Given the description of an element on the screen output the (x, y) to click on. 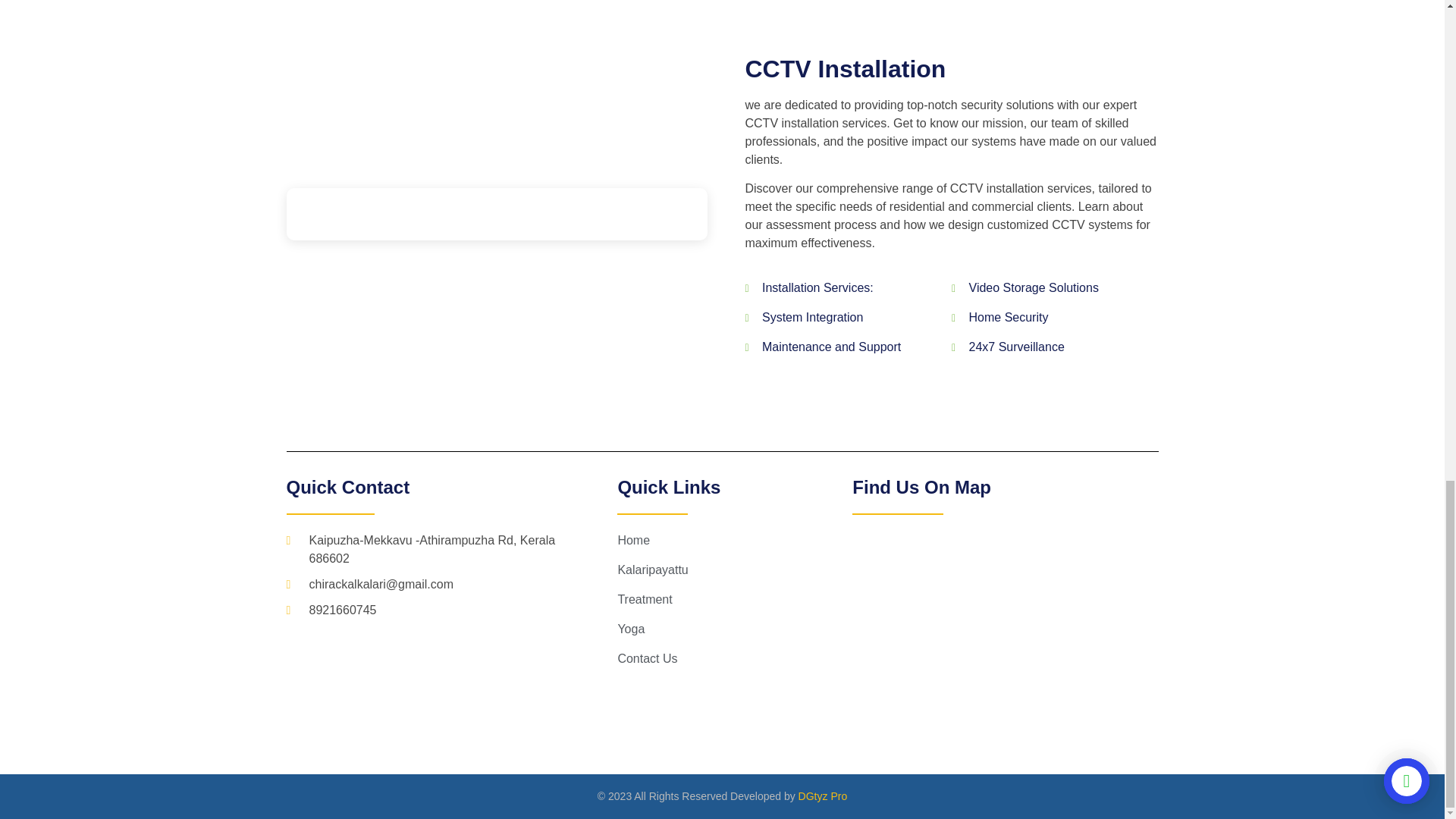
Home (734, 540)
Yoga (734, 628)
Kalaripayattu (734, 570)
8921660745 (432, 610)
DGtyz Pro (822, 796)
Contact Us (734, 659)
Treatment (734, 599)
